Given the description of an element on the screen output the (x, y) to click on. 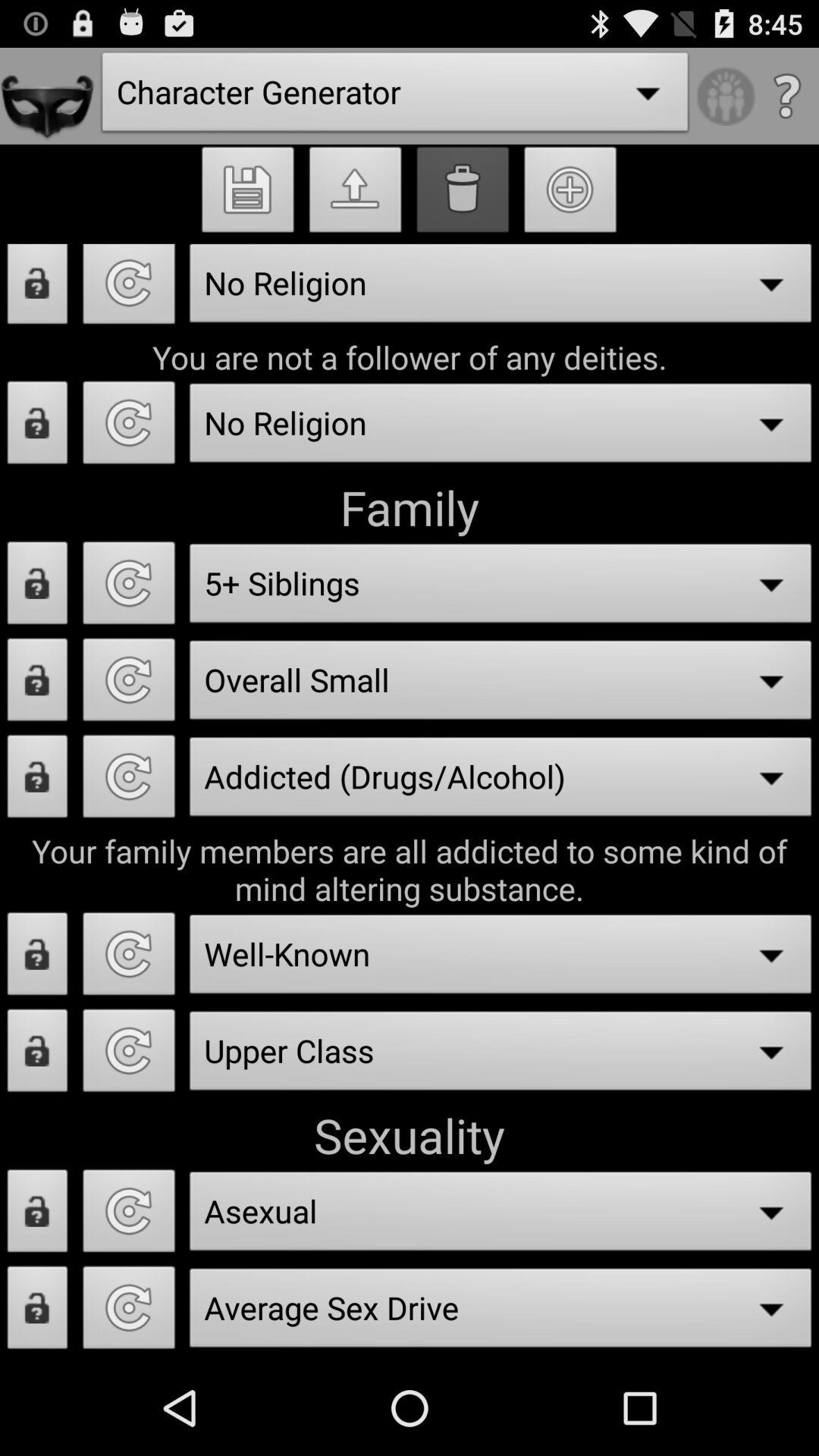
lock unlock (37, 587)
